Given the description of an element on the screen output the (x, y) to click on. 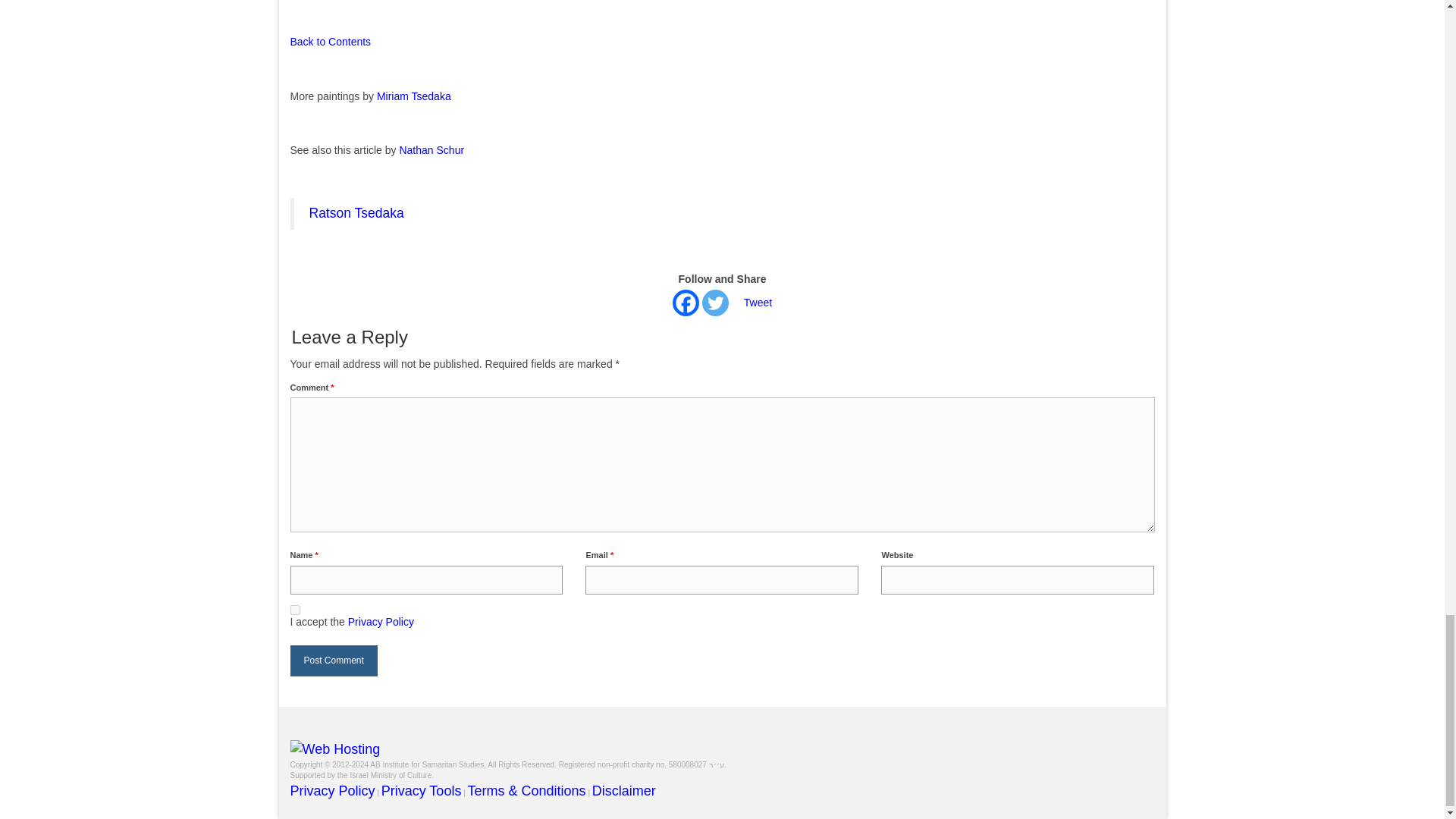
Post Comment (333, 660)
1 (294, 610)
